Given the description of an element on the screen output the (x, y) to click on. 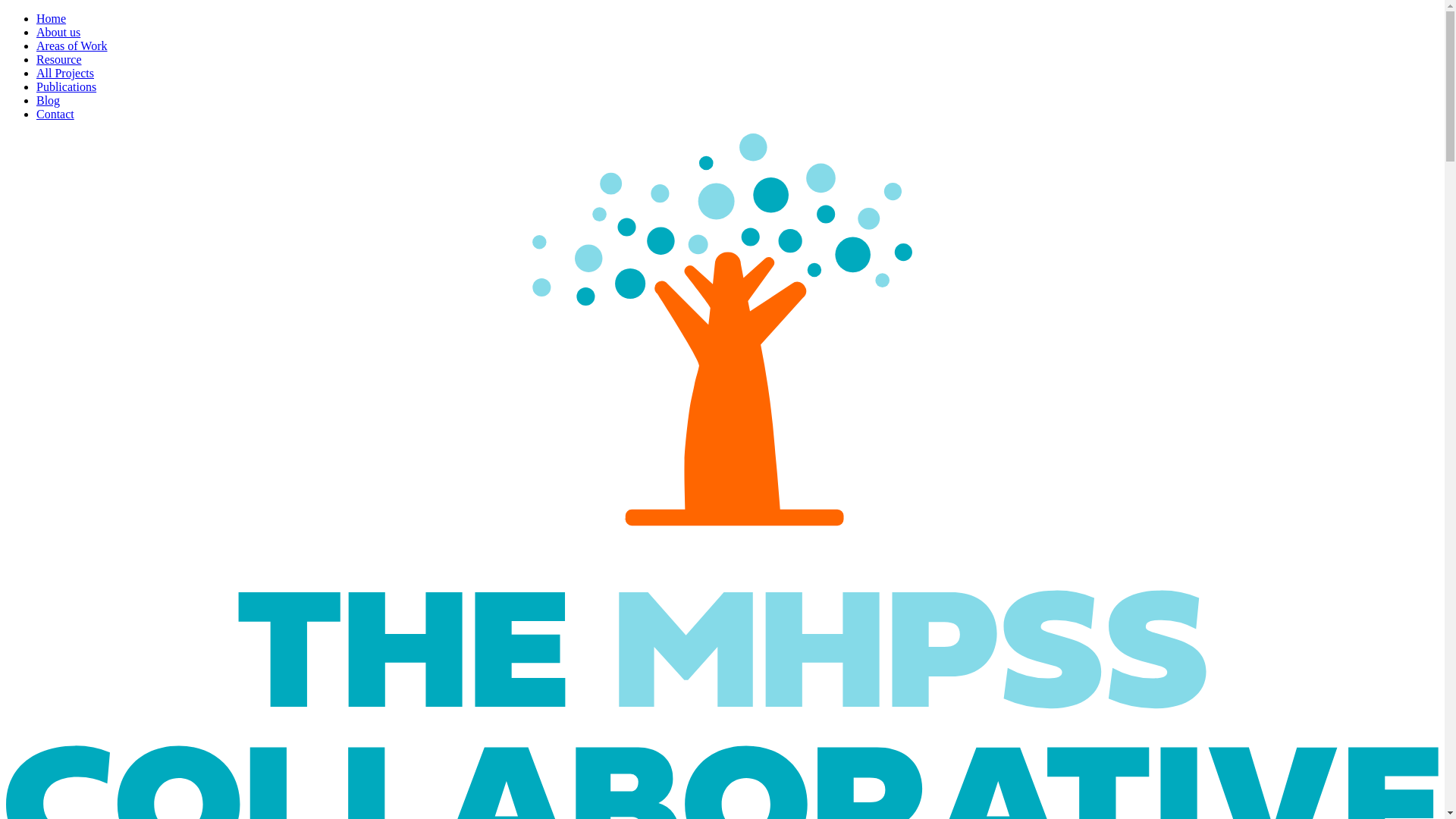
About us (58, 31)
Publications (66, 86)
Home (50, 18)
Contact (55, 113)
Resource (58, 59)
Areas of Work (71, 45)
All Projects (65, 72)
Blog (47, 100)
